Given the description of an element on the screen output the (x, y) to click on. 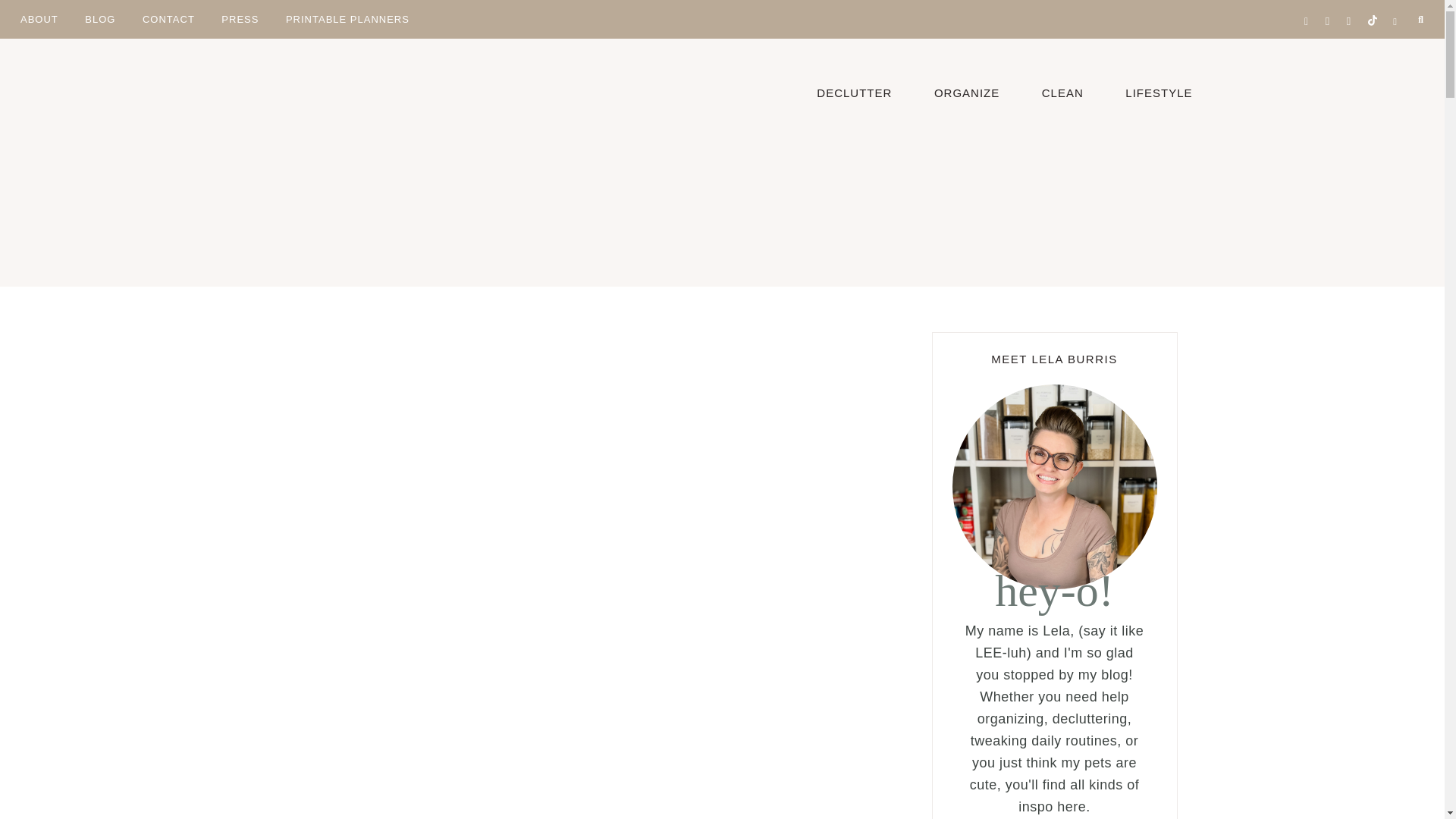
PRESS (239, 18)
ORGANIZE (966, 91)
LIFESTYLE (1158, 91)
CONTACT (168, 18)
CLEAN (1062, 91)
DECLUTTER (854, 91)
ABOUT (38, 18)
PRINTABLE PLANNERS (347, 18)
BLOG (100, 18)
